Given the description of an element on the screen output the (x, y) to click on. 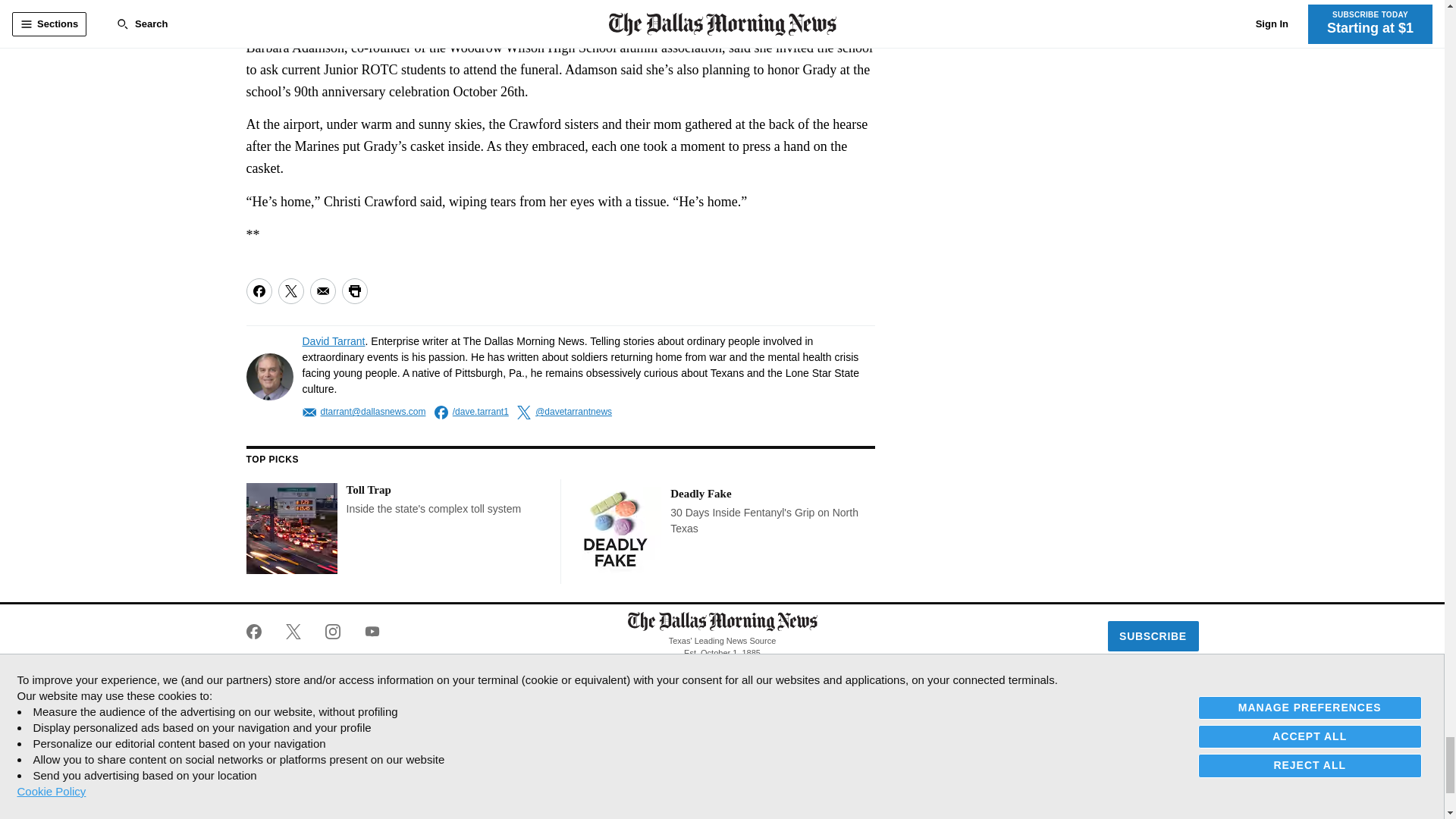
Share via Email (321, 290)
The Dallas Morning News on Facebook (259, 631)
Share on Twitter (290, 290)
Share on Facebook (258, 290)
Print (353, 290)
